Given the description of an element on the screen output the (x, y) to click on. 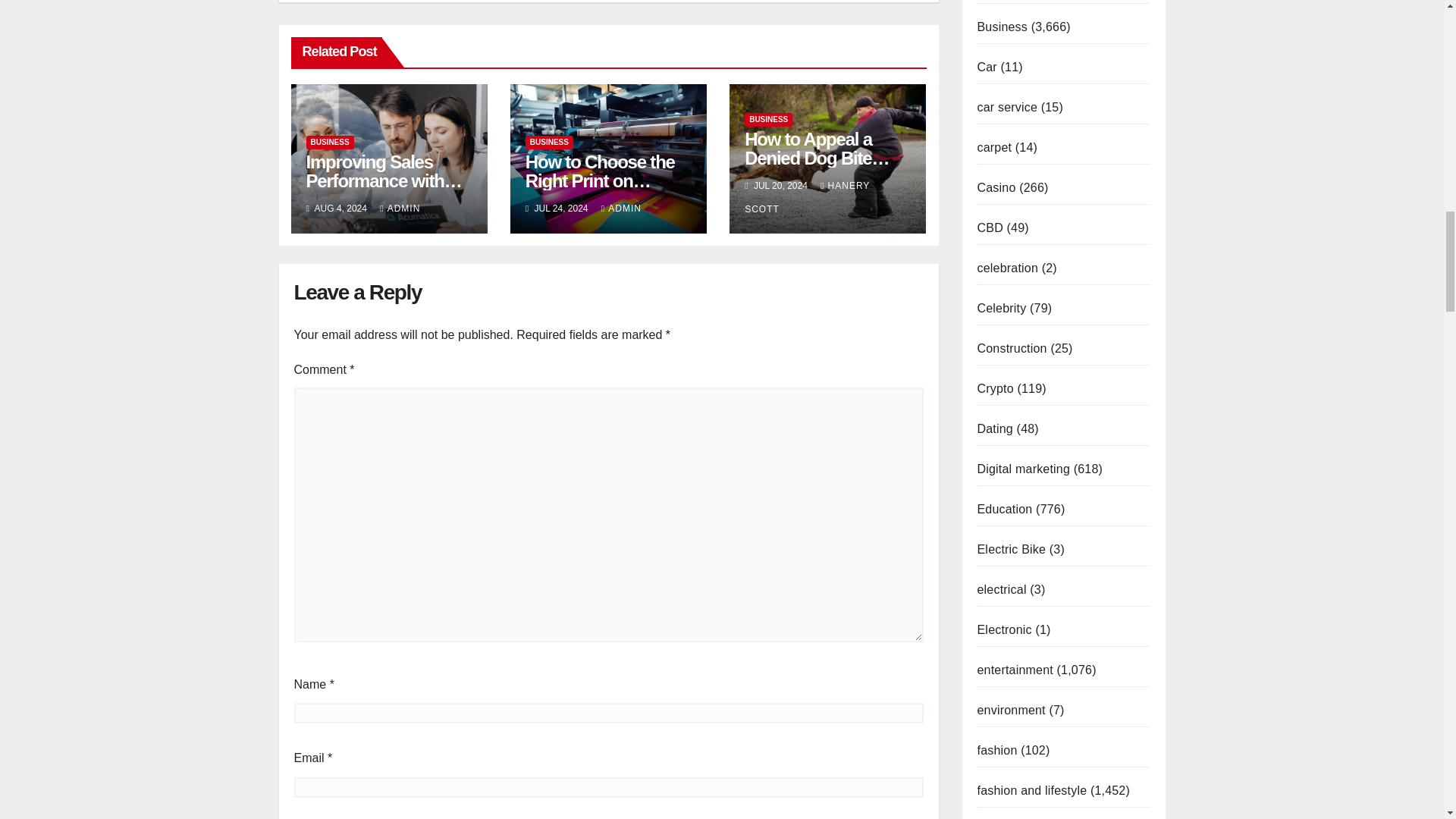
ADMIN (621, 208)
BUSINESS (549, 142)
Improving Sales Performance with ERP Acumatica (384, 180)
ADMIN (400, 208)
Permalink to: Improving Sales Performance with ERP Acumatica (384, 180)
BUSINESS (768, 119)
BUSINESS (329, 142)
